Given the description of an element on the screen output the (x, y) to click on. 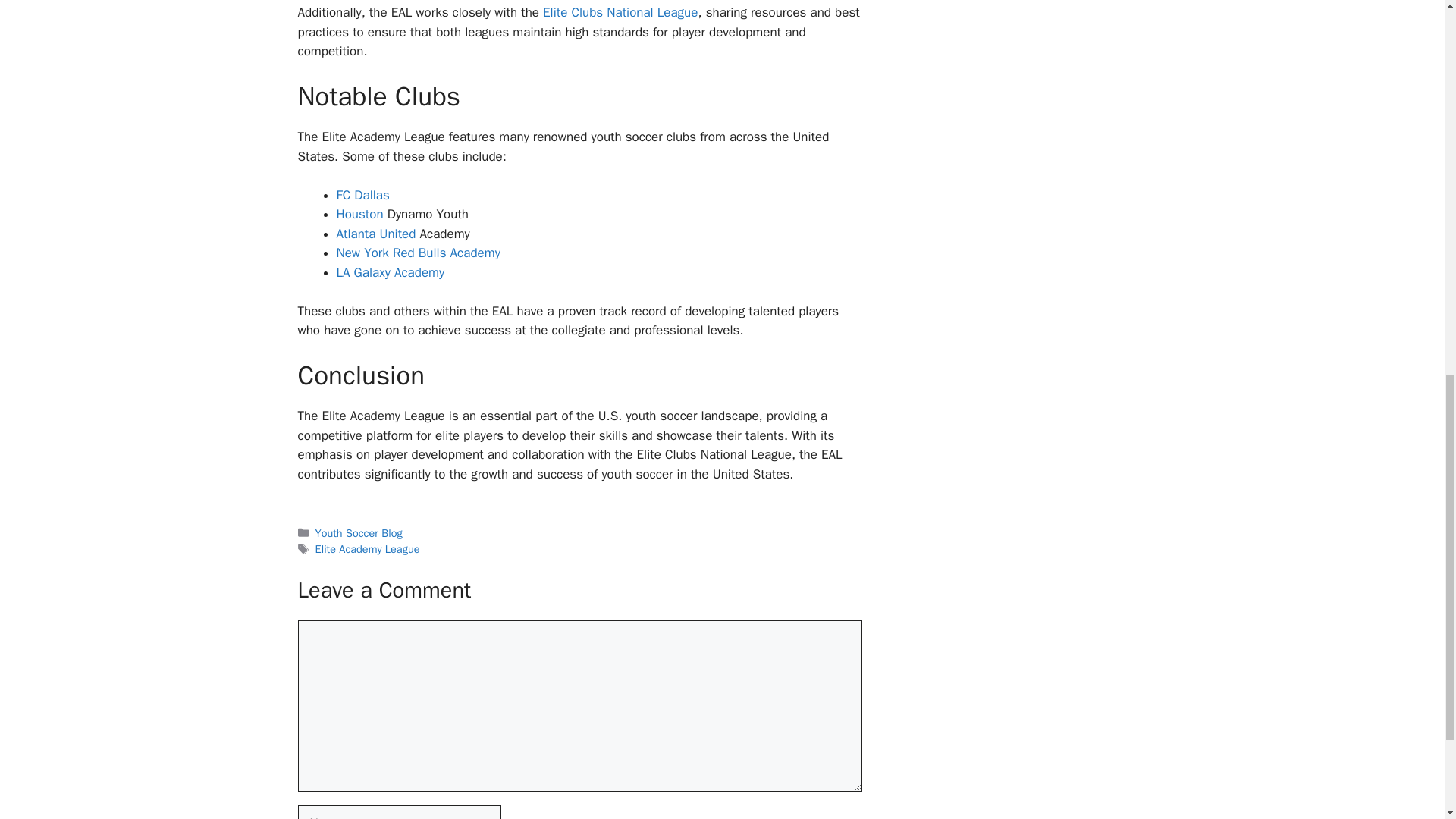
Atlanta United (376, 233)
Elite Academy League (367, 549)
Houston (360, 213)
Elite Clubs National League (620, 12)
New York Red Bulls Academy (418, 252)
LA Galaxy Academy (390, 272)
FC Dallas (363, 195)
Youth Soccer Blog (359, 532)
